Given the description of an element on the screen output the (x, y) to click on. 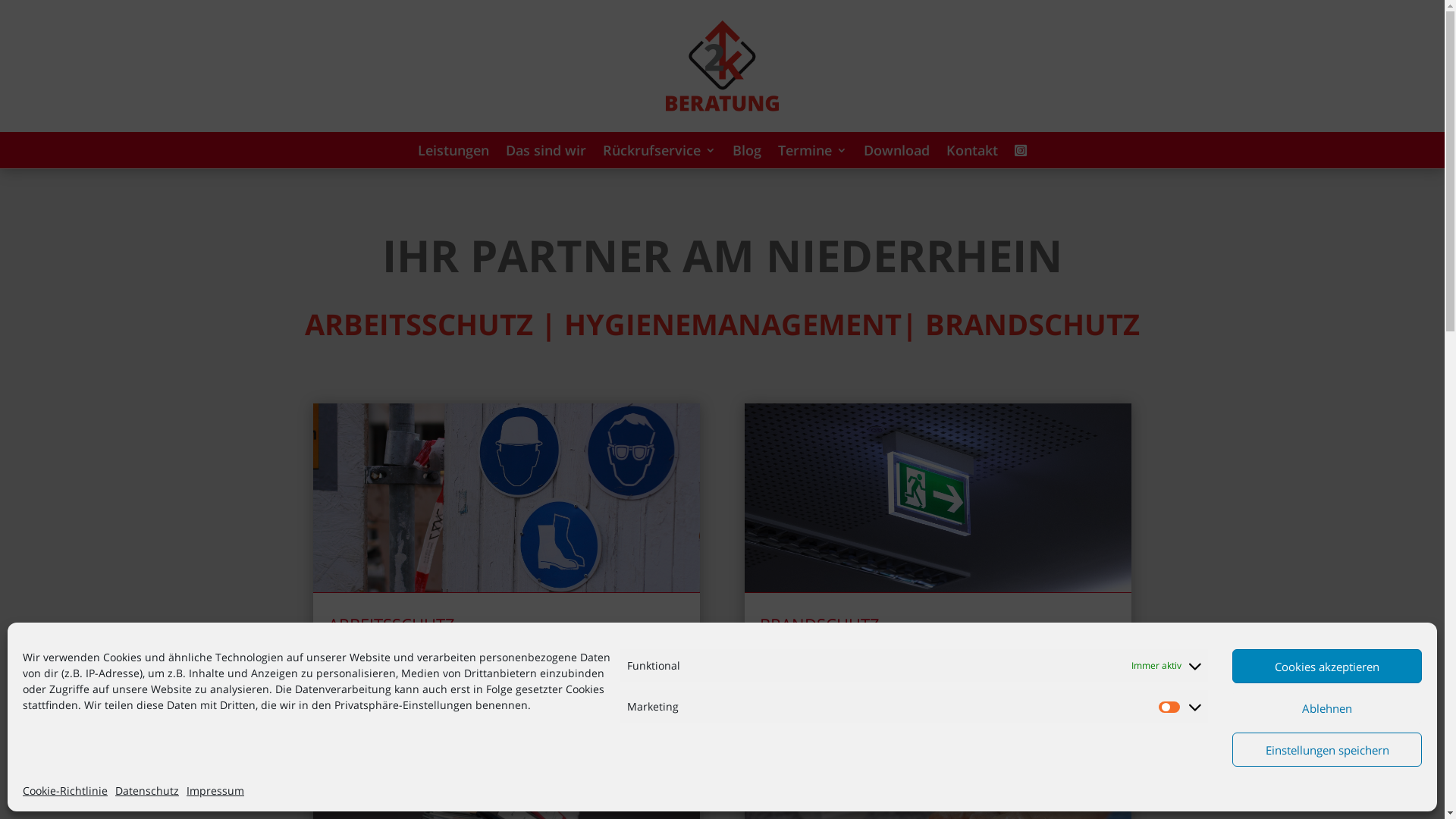
Cookies akzeptieren Element type: text (1326, 666)
Datenschutz Element type: text (146, 790)
2k-beratung-logoOhneGmbH Element type: hover (721, 65)
Blog Element type: text (746, 153)
erfahren Sie mehr Element type: text (818, 668)
Ablehnen Element type: text (1326, 707)
Leistungen Element type: text (453, 153)
Kontakt Element type: text (971, 153)
Cookie-Richtlinie Element type: text (64, 790)
Termine Element type: text (812, 153)
Download Element type: text (896, 153)
erfahren Sie mehr Element type: text (386, 668)
Impressum Element type: text (215, 790)
Das sind wir Element type: text (545, 153)
Einstellungen speichern Element type: text (1326, 749)
